Given the description of an element on the screen output the (x, y) to click on. 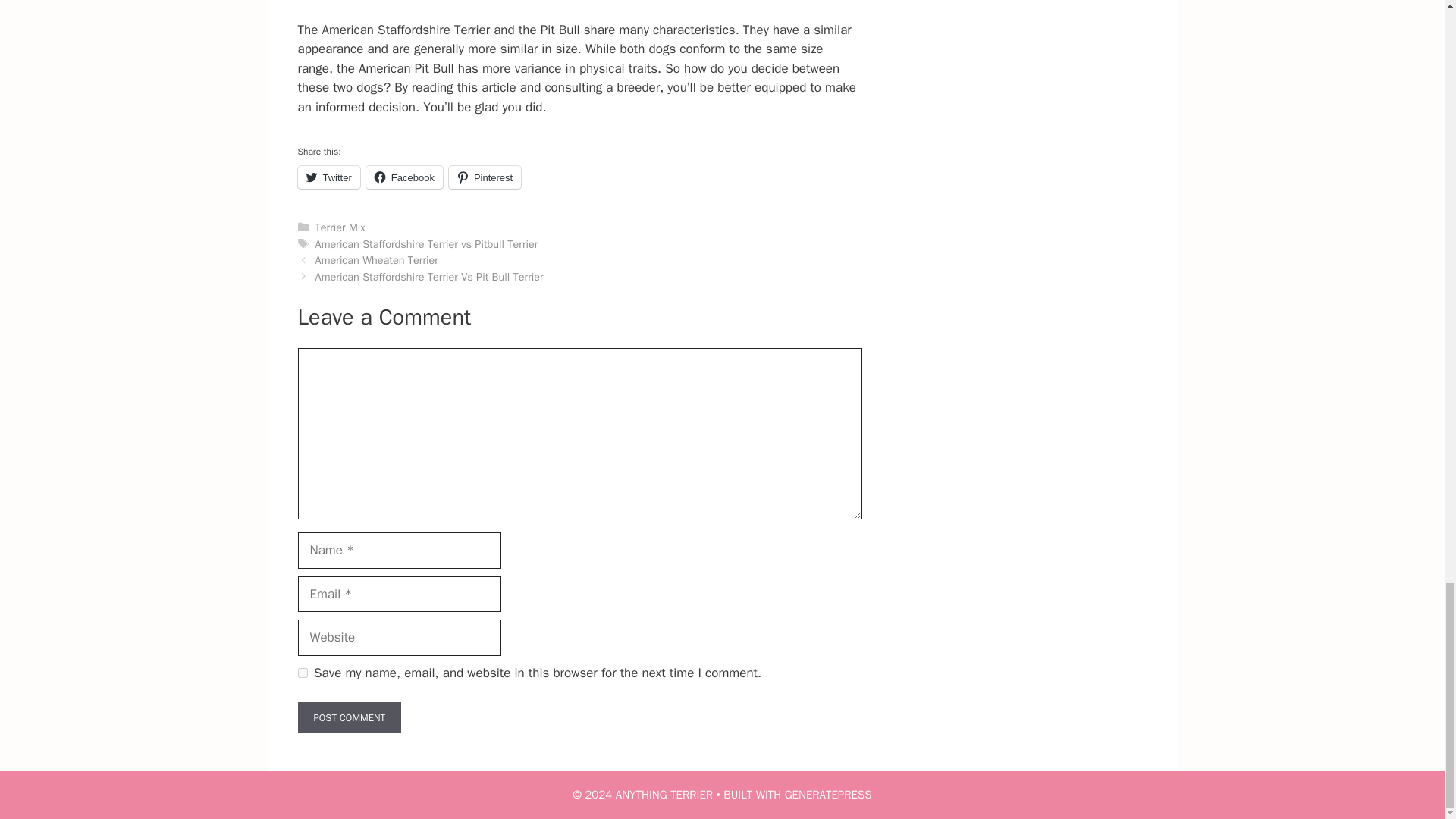
Click to share on Twitter (328, 177)
American Staffordshire Terrier vs Pitbull Terrier (426, 243)
American Staffordshire Terrier Vs Pit Bull Terrier (429, 276)
Click to share on Pinterest (484, 177)
Facebook (404, 177)
Twitter (328, 177)
American Wheaten Terrier (376, 259)
Post Comment (349, 717)
Pinterest (484, 177)
yes (302, 673)
